Given the description of an element on the screen output the (x, y) to click on. 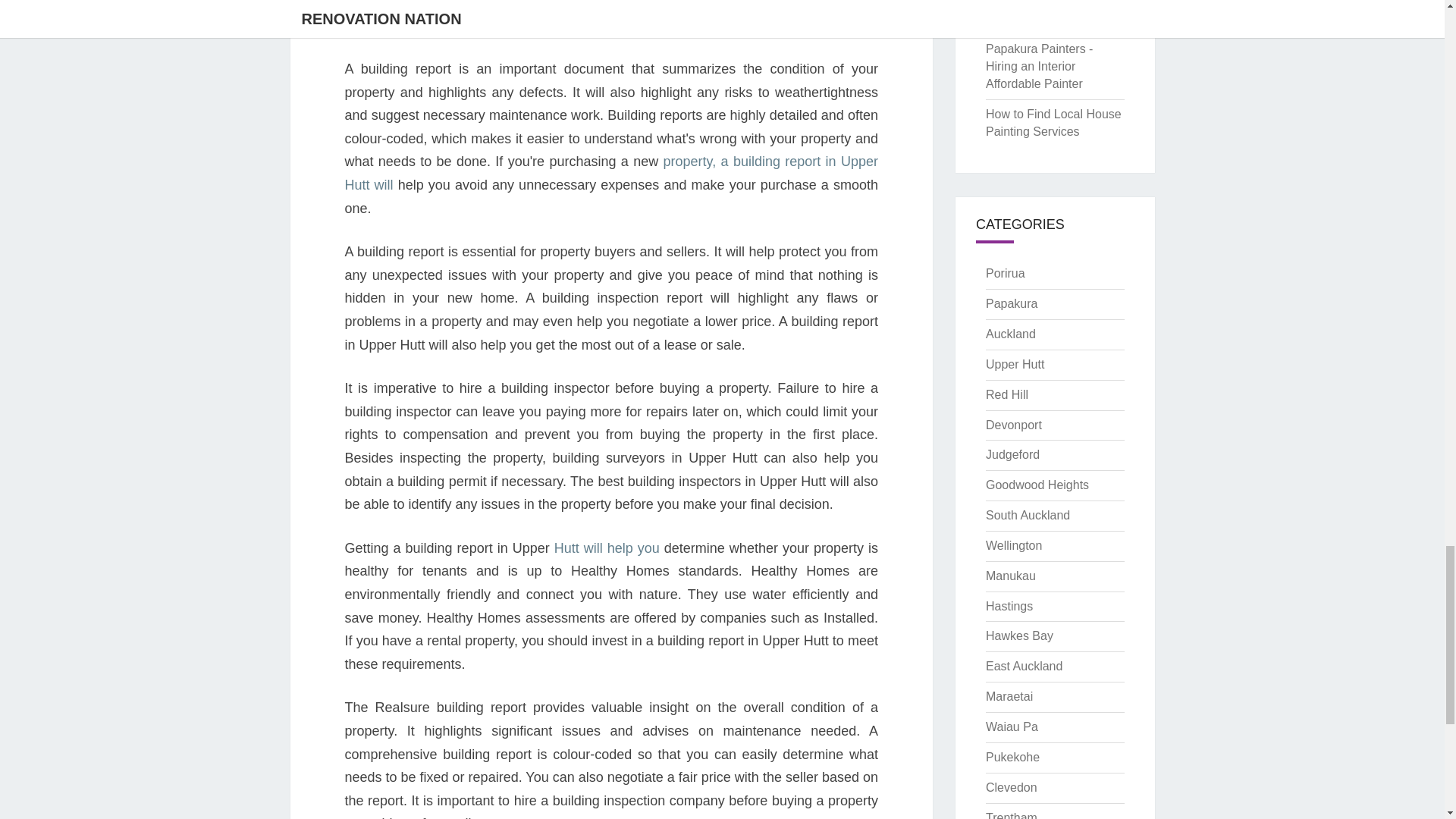
Hutt will help you (606, 548)
property, a building report in Upper Hutt will (610, 172)
